Given the description of an element on the screen output the (x, y) to click on. 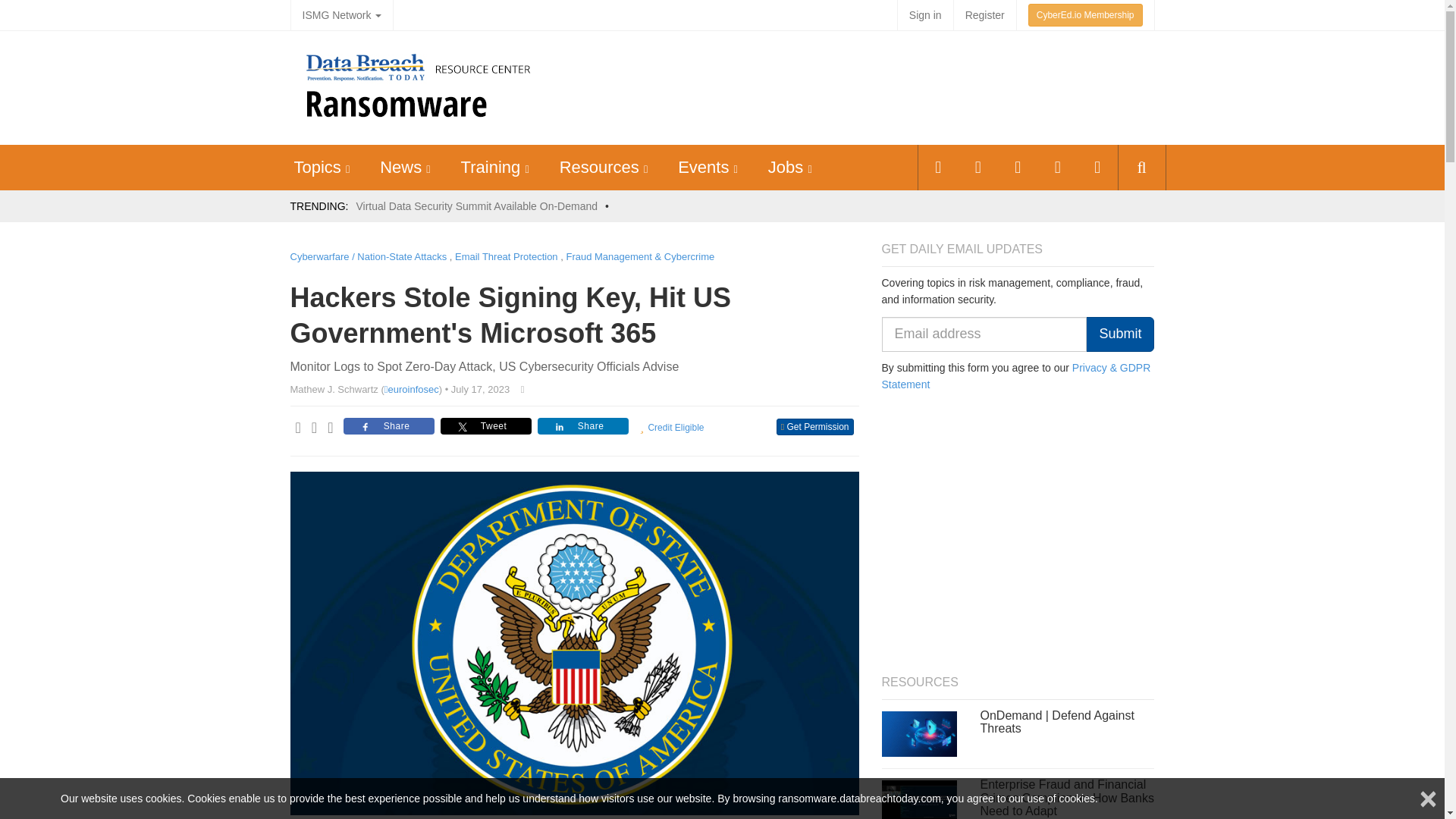
Topics (317, 167)
CyberEd.io Membership (1084, 15)
3rd party ad content (873, 88)
Sign in (925, 15)
ISMG Network (341, 15)
News (401, 167)
Register (984, 15)
